Given the description of an element on the screen output the (x, y) to click on. 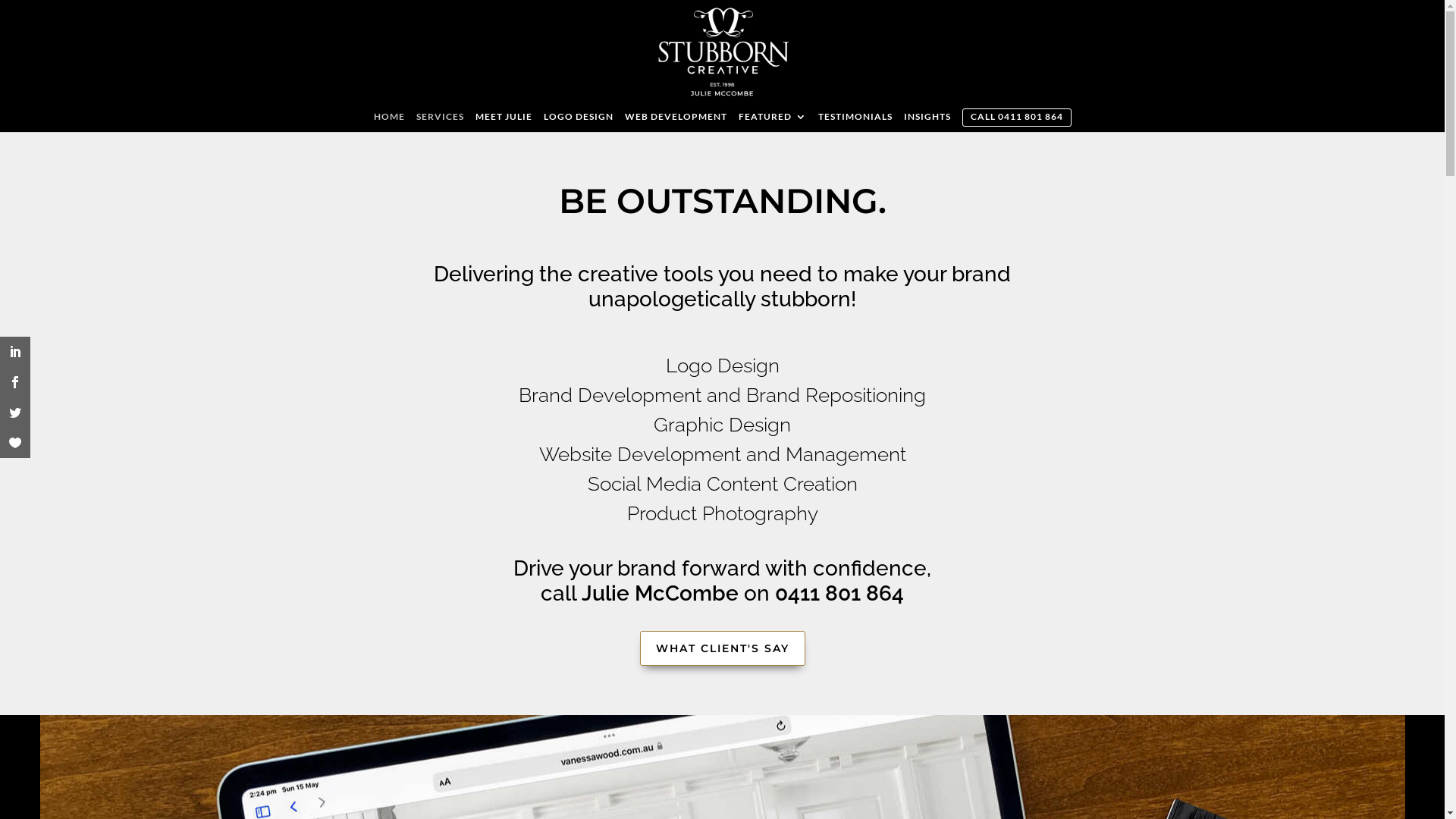
MEET JULIE Element type: text (502, 120)
CALL 0411 801 864 Element type: text (1016, 118)
TESTIMONIALS Element type: text (854, 120)
Julie McCombe Element type: text (659, 592)
WEB DEVELOPMENT Element type: text (675, 120)
0411 801 864 Element type: text (839, 592)
INSIGHTS Element type: text (926, 120)
LOGO DESIGN Element type: text (577, 120)
WHAT CLIENT'S SAY Element type: text (722, 648)
FEATURED Element type: text (772, 120)
SERVICES Element type: text (439, 120)
HOME Element type: text (388, 120)
